Given the description of an element on the screen output the (x, y) to click on. 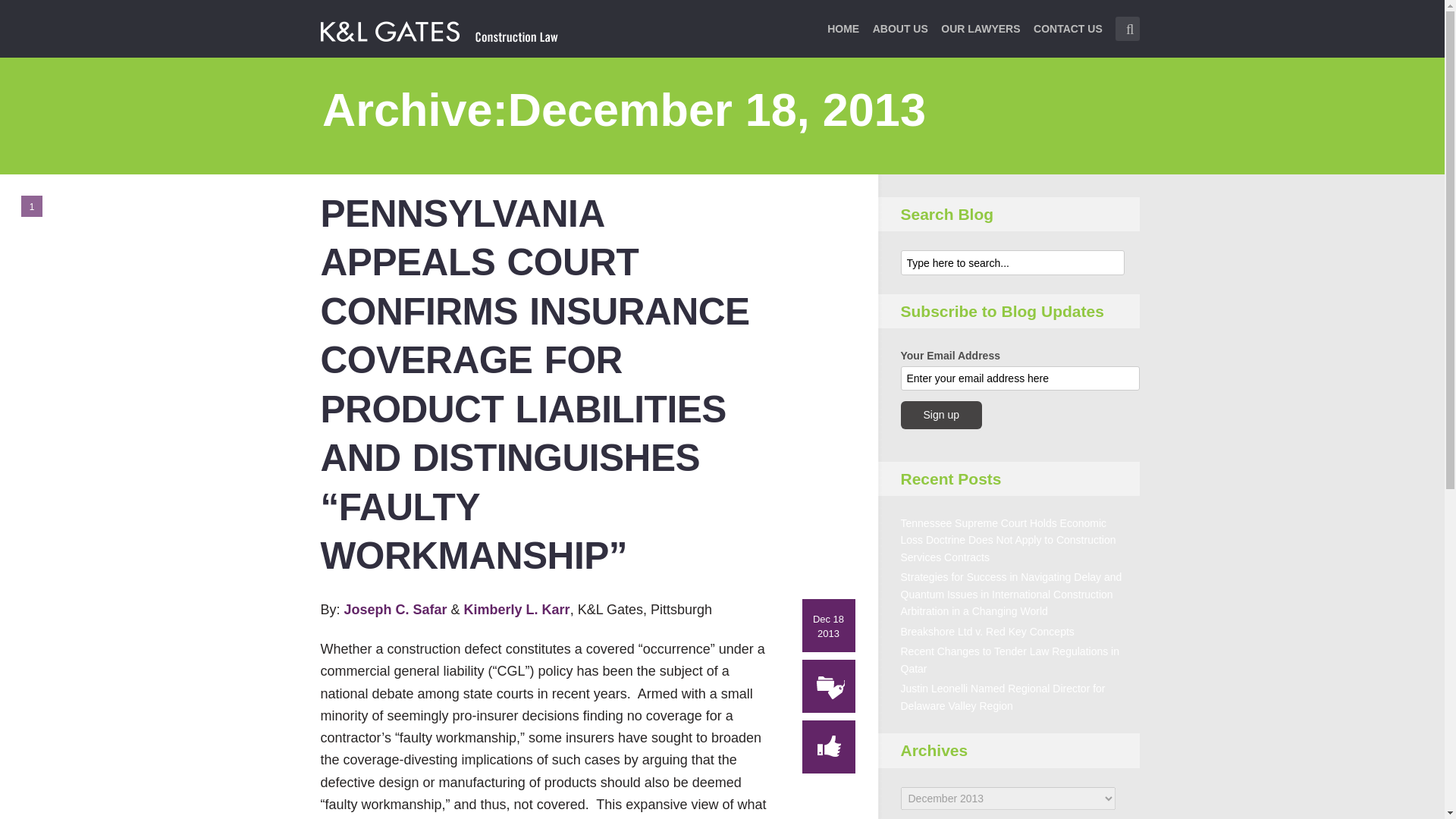
Joseph C. Safar (397, 609)
Breakshore Ltd v. Red Key Concepts (987, 631)
Type here to search... (1126, 28)
Enter your email address here (1020, 378)
Kimberly L. Karr (517, 609)
CONTACT US (1067, 37)
OUR LAWYERS (980, 37)
Type here to search... (1012, 262)
